Given the description of an element on the screen output the (x, y) to click on. 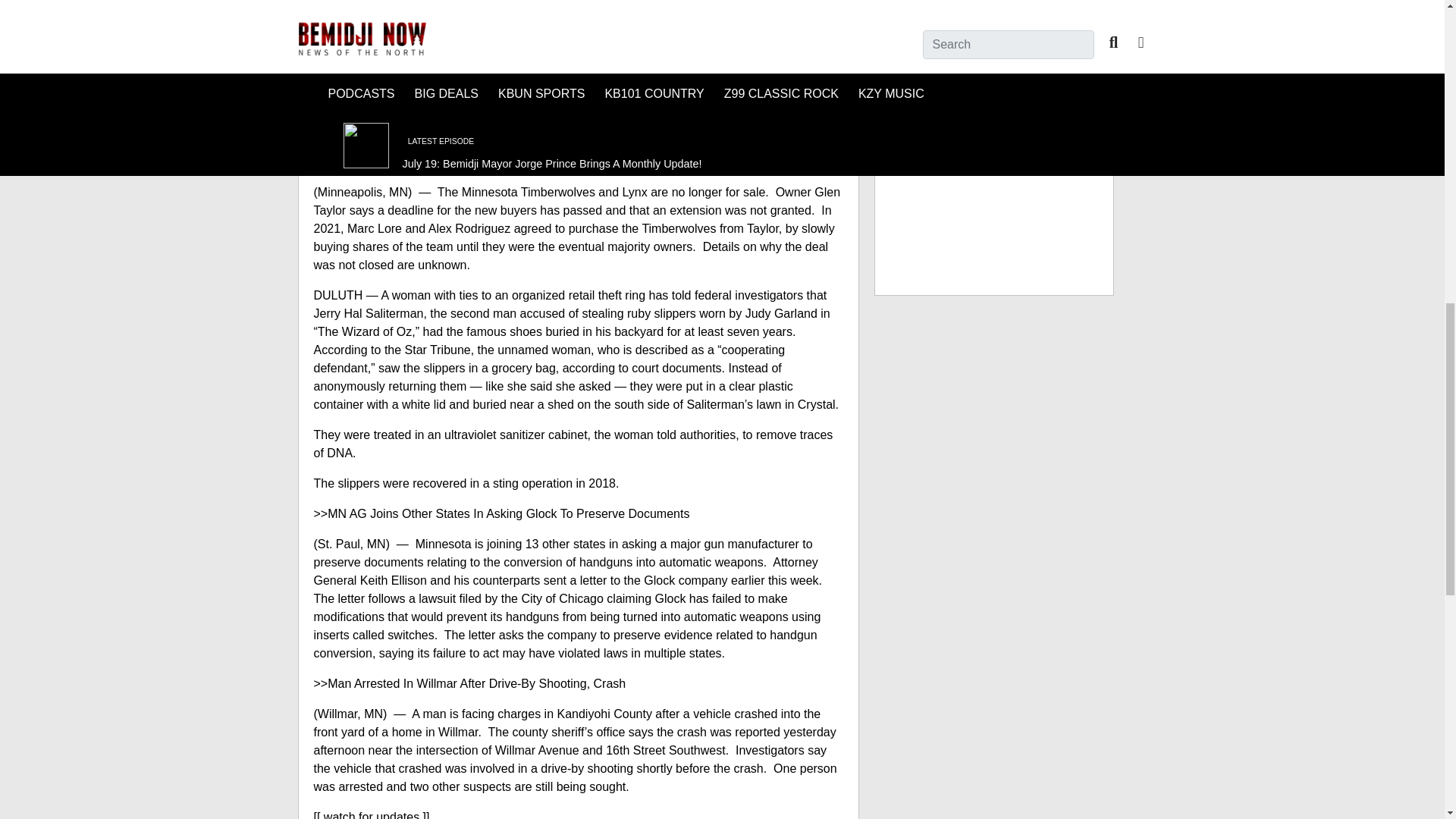
a sting operation in 2018 (549, 482)
